Given the description of an element on the screen output the (x, y) to click on. 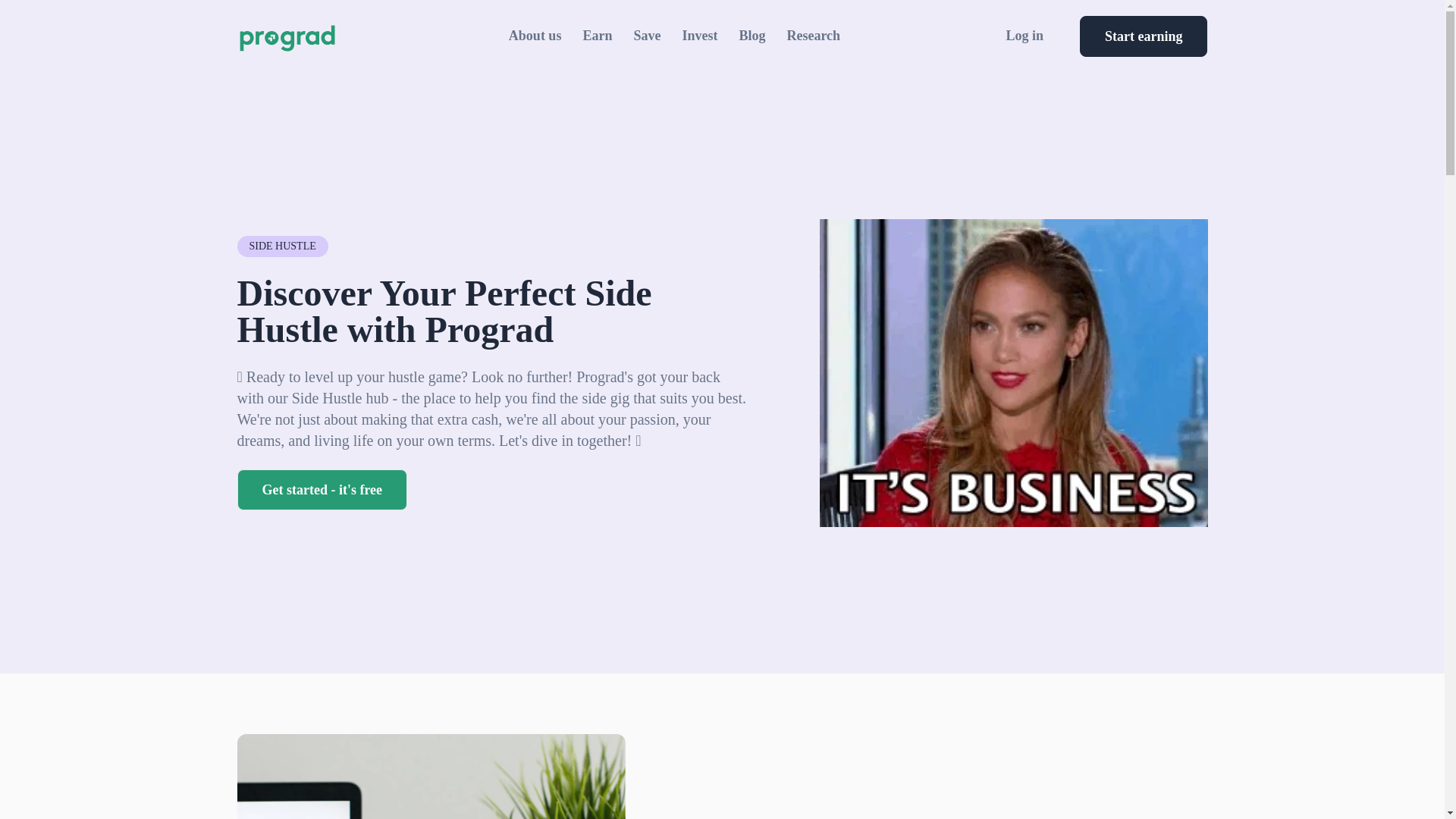
Start earning (1144, 35)
Invest (699, 36)
About us (535, 36)
Research (813, 36)
Log in (1024, 36)
Blog (751, 36)
Earn (596, 36)
Save (647, 36)
Get started - it's free (321, 489)
